Given the description of an element on the screen output the (x, y) to click on. 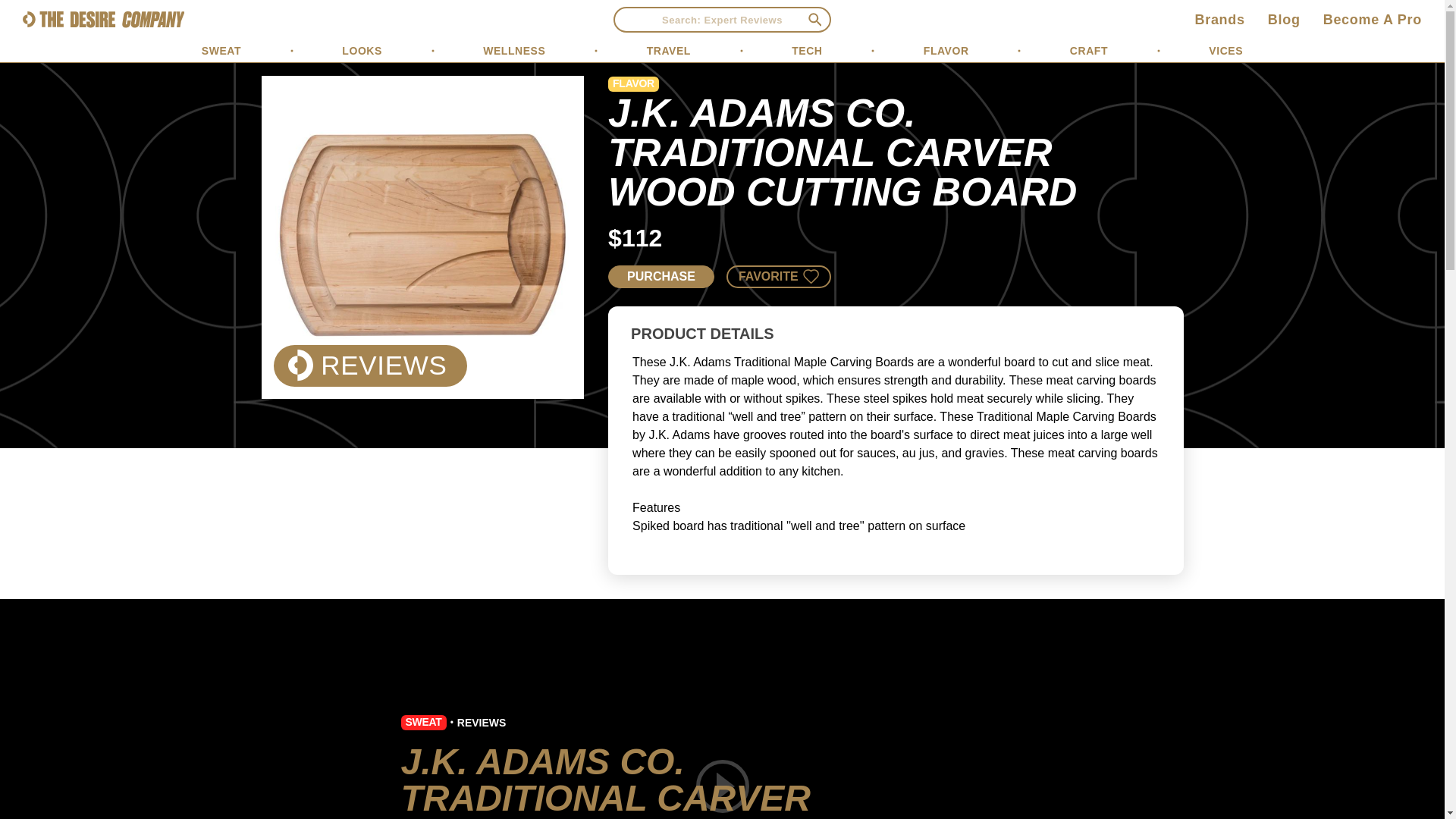
Become A Pro (1372, 19)
WELLNESS (513, 50)
SWEAT (422, 721)
PURCHASE (661, 276)
CRAFT (1089, 50)
SWEAT (221, 50)
FLAVOR (946, 50)
TECH (807, 50)
FLAVOR (633, 82)
Blog (1284, 19)
LOOKS (361, 50)
VICES (1225, 50)
Brands (1218, 19)
FAVORITE (778, 276)
TRAVEL (668, 50)
